Given the description of an element on the screen output the (x, y) to click on. 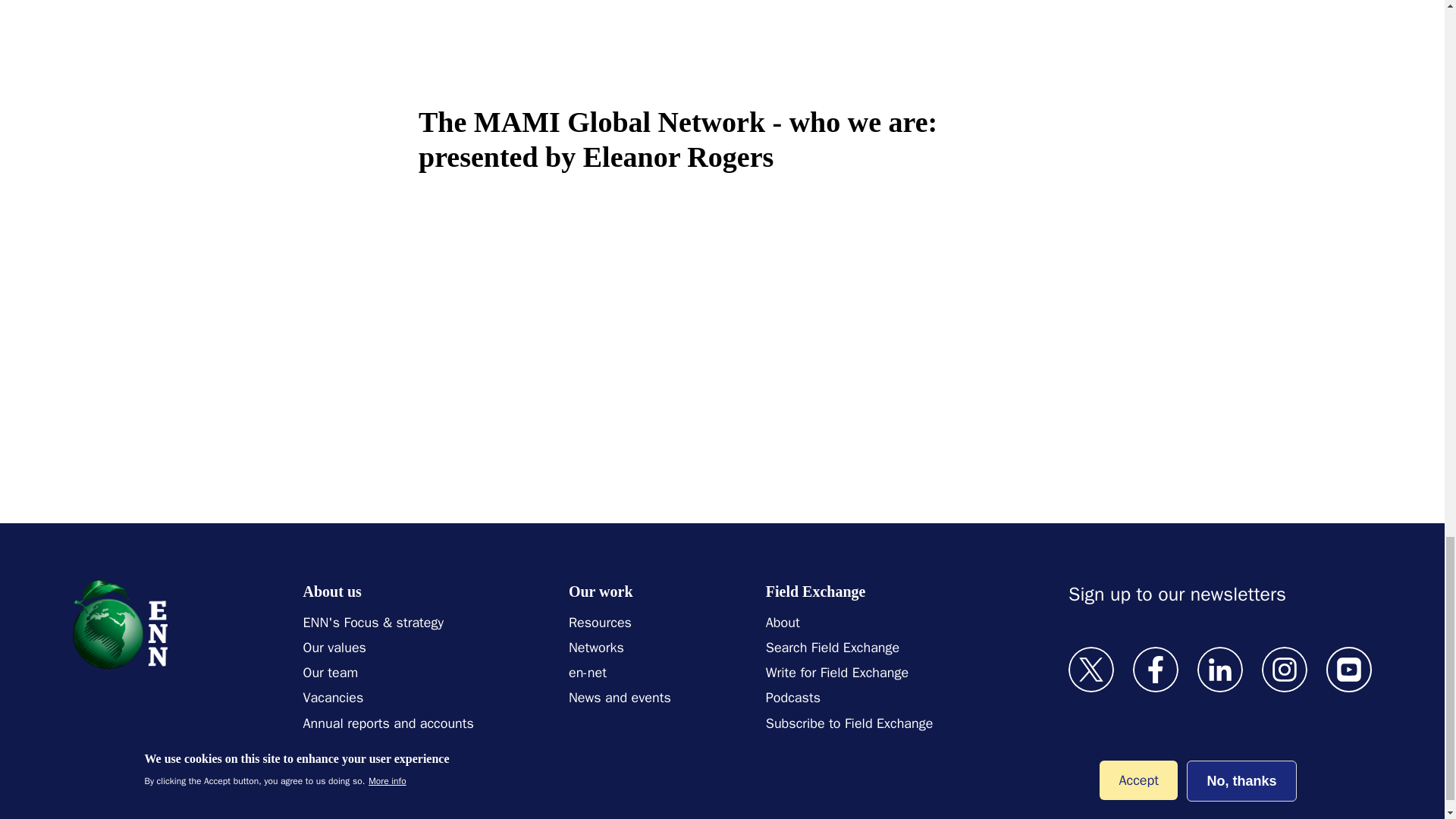
YouTube video player (631, 45)
Logo (119, 624)
YouTube video player (631, 312)
